Given the description of an element on the screen output the (x, y) to click on. 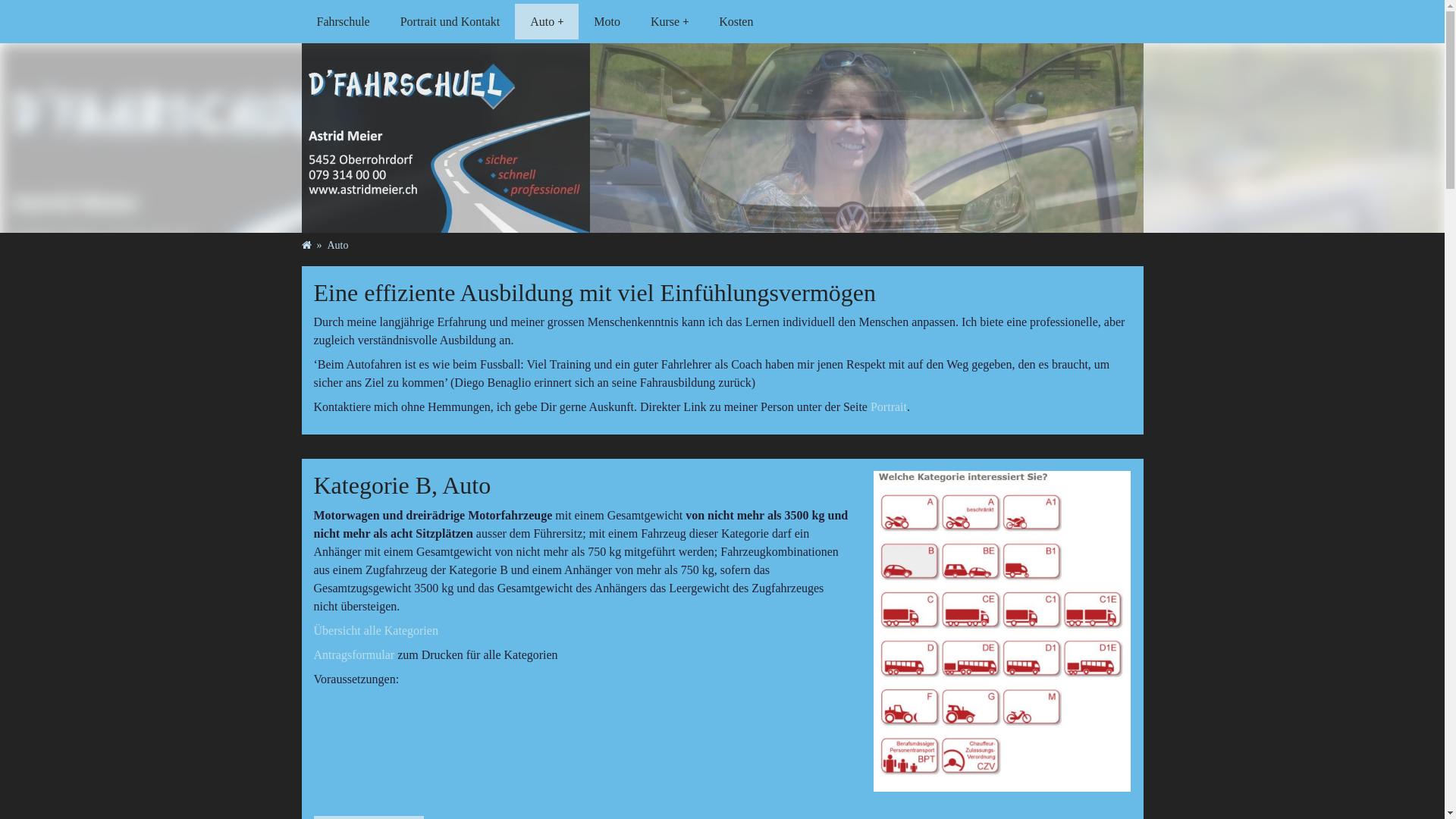
Portrait Element type: text (888, 406)
Kurse Element type: text (669, 21)
Moto Element type: text (606, 21)
Portrait und Kontakt Element type: text (450, 21)
Antragsformular Element type: text (354, 654)
kategorien Element type: hover (1001, 630)
Auto Element type: text (337, 245)
Kosten Element type: text (735, 21)
Auto Element type: text (546, 21)
Fahrschule Element type: text (343, 21)
